Given the description of an element on the screen output the (x, y) to click on. 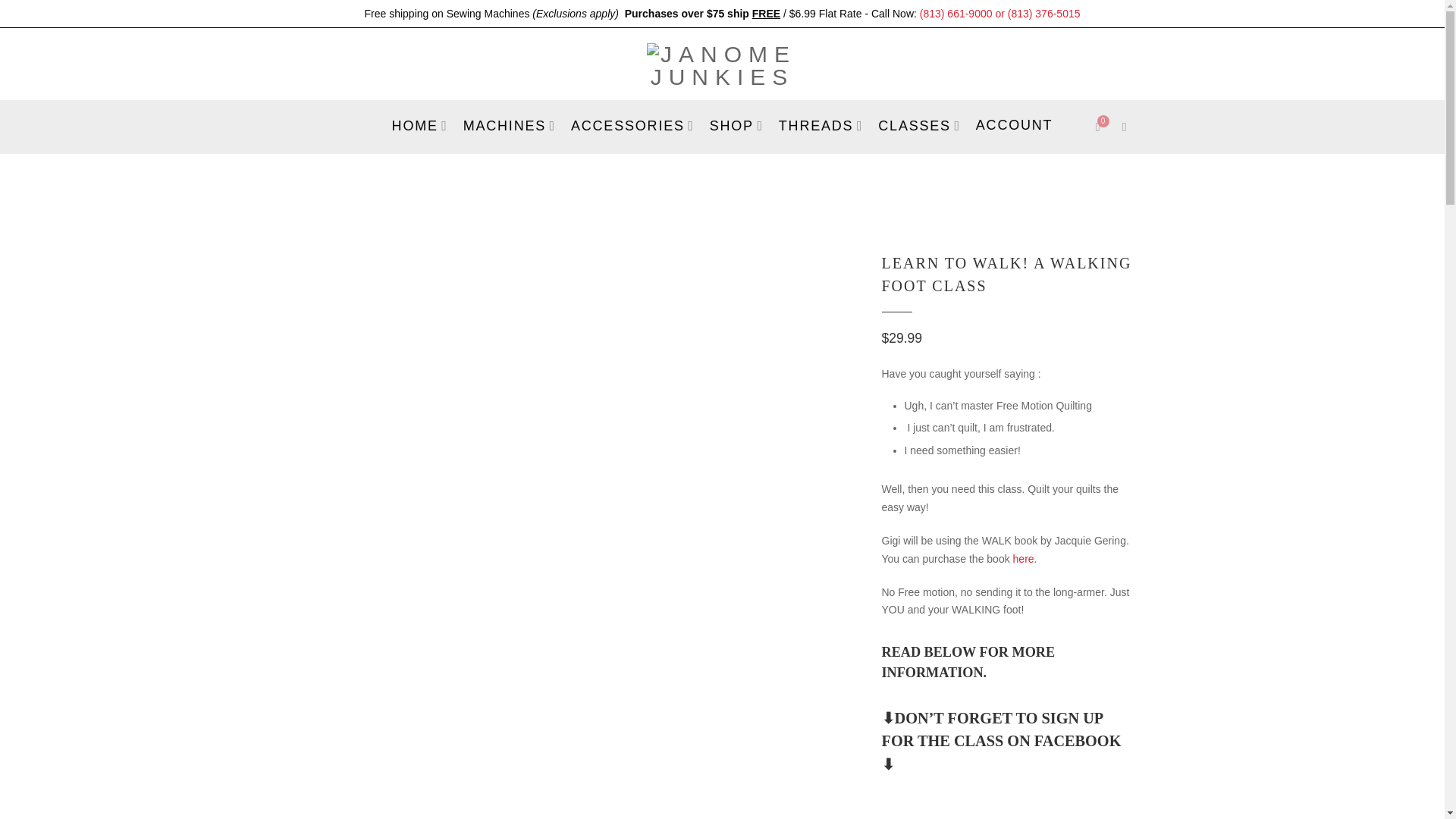
SHOP (736, 125)
MACHINES (509, 125)
THREADS (820, 125)
HOME (419, 125)
ACCESSORIES (632, 125)
